Given the description of an element on the screen output the (x, y) to click on. 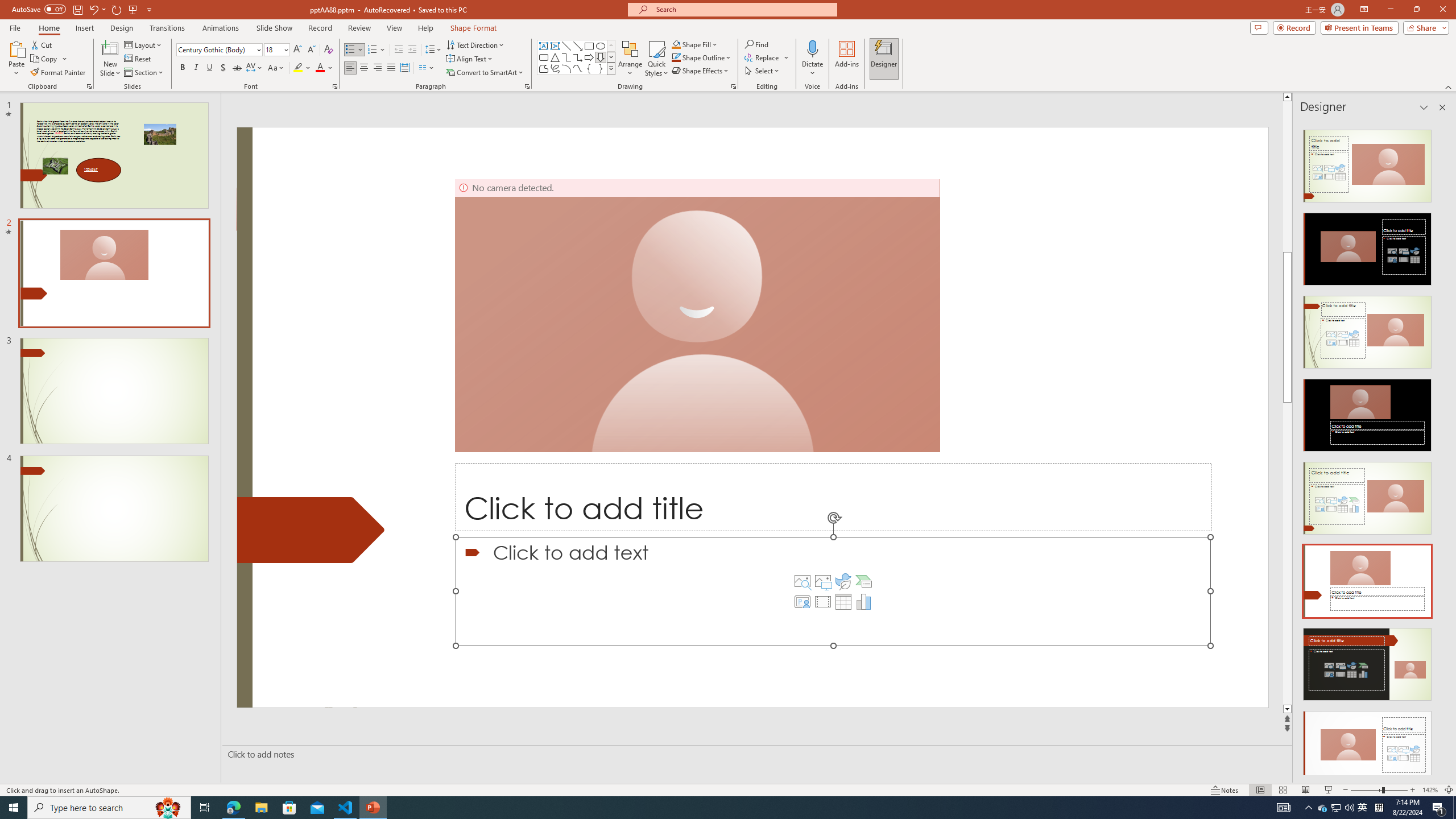
Connector: Elbow (566, 57)
Microsoft search (742, 9)
Font Color (324, 67)
Line up (1450, 96)
Close (1442, 9)
Shapes (611, 68)
Font (215, 49)
Design Idea (1366, 743)
Clear Formatting (327, 49)
Decrease Indent (398, 49)
Rectangle (589, 45)
Line Arrow (577, 45)
Open (285, 49)
Dictate (812, 48)
Shadow (223, 67)
